Given the description of an element on the screen output the (x, y) to click on. 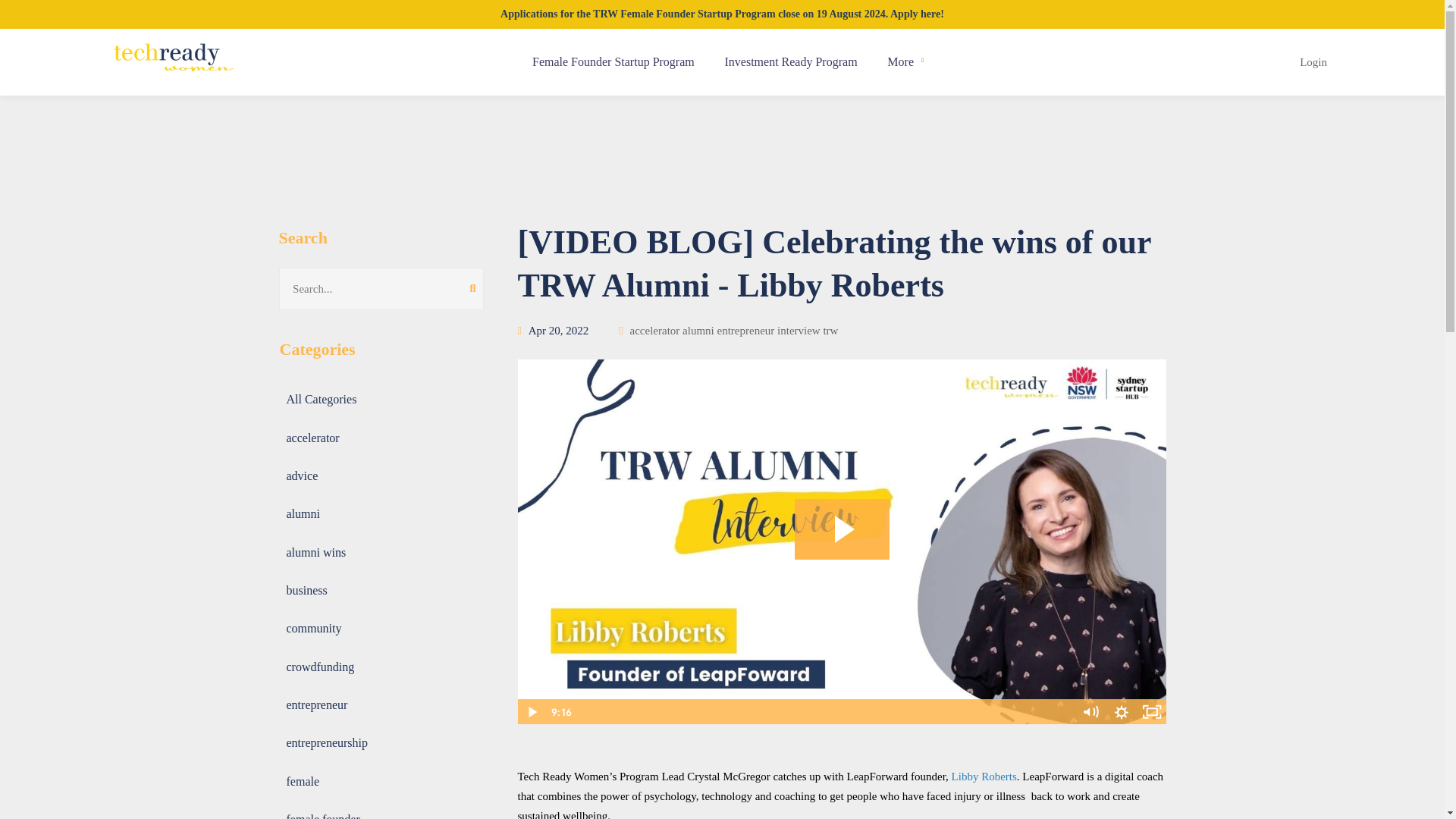
More (905, 61)
Investment Ready Program (790, 61)
entrepreneurship (326, 742)
Login (1313, 61)
Show settings menu (1120, 711)
Female Founder Startup Program (612, 61)
All Categories (320, 398)
alumni (302, 513)
female founder (322, 812)
alumni wins (315, 551)
female (302, 781)
community (313, 628)
advice (301, 475)
business (306, 590)
crowdfunding (320, 666)
